Given the description of an element on the screen output the (x, y) to click on. 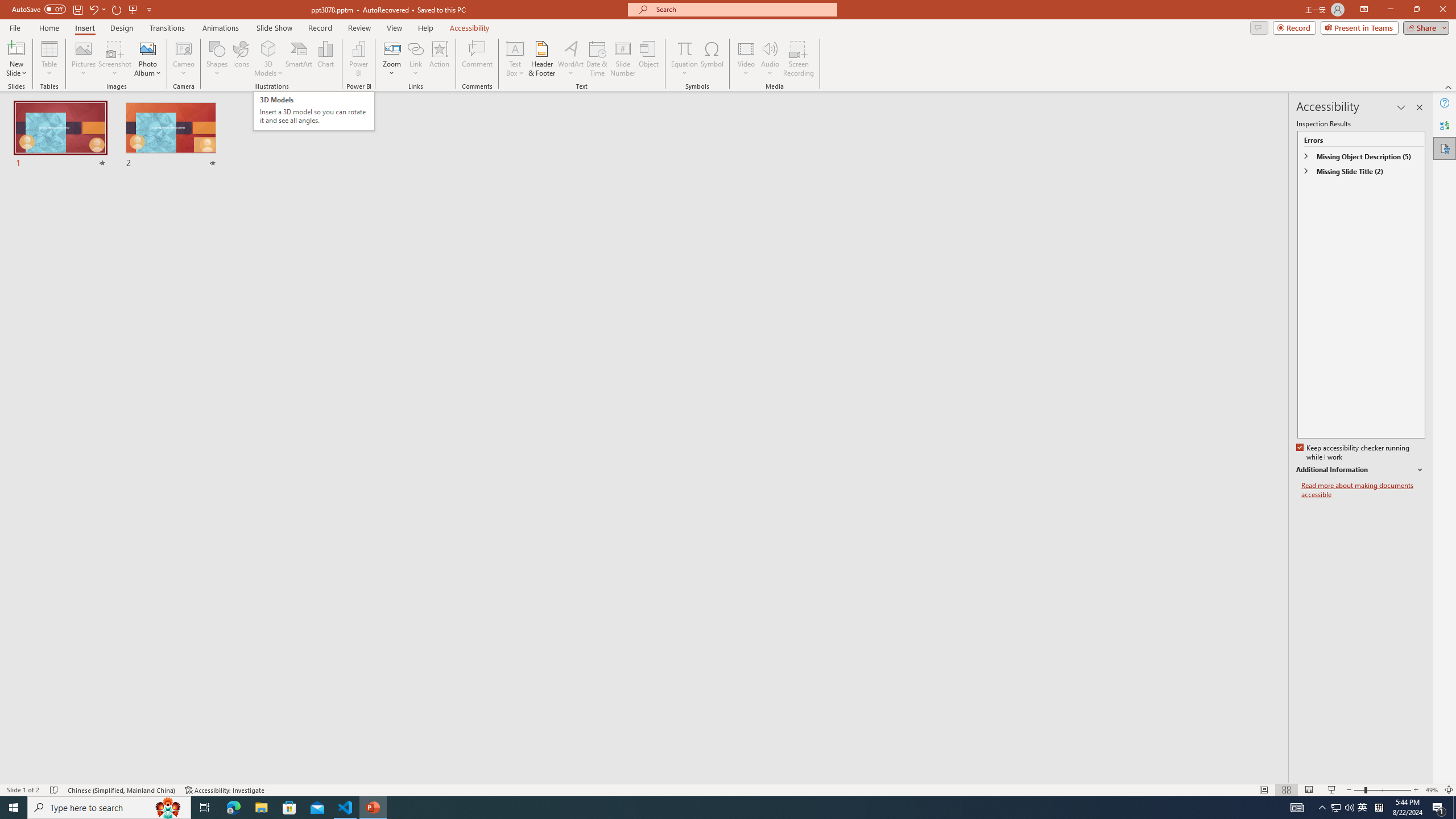
Date & Time... (596, 58)
Object... (649, 58)
Header & Footer... (541, 58)
3D Models (268, 48)
WordArt (570, 58)
